Given the description of an element on the screen output the (x, y) to click on. 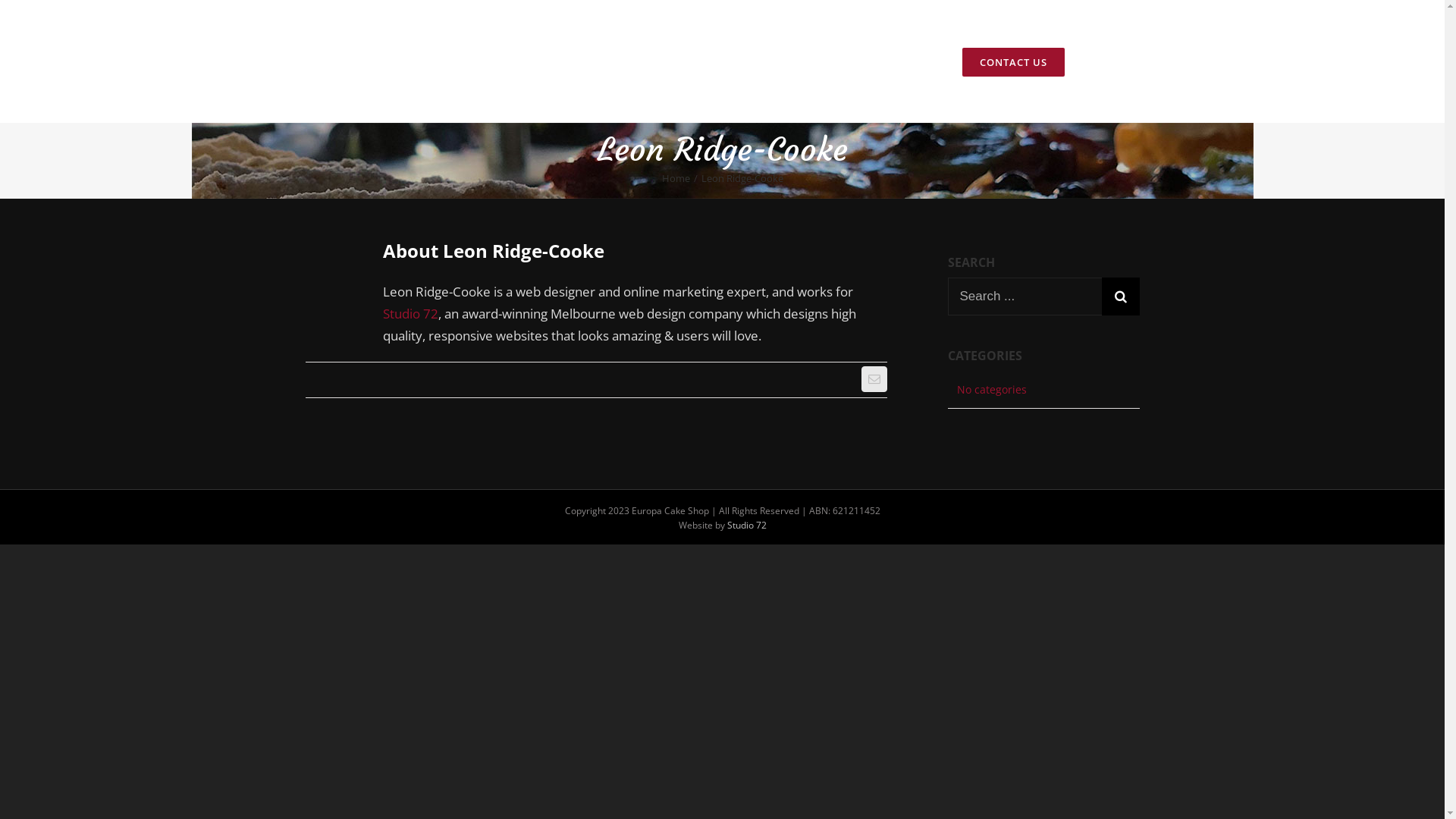
CATERING Element type: text (912, 61)
Home Element type: text (675, 178)
HOME Element type: text (678, 61)
OUR STORY Element type: text (752, 61)
GALLERY Element type: text (835, 61)
Studio 72 Element type: text (409, 313)
Follow us on Facebook Element type: hover (1085, 61)
CONTACT US Element type: text (1012, 61)
Follow us on Instagram Element type: hover (1114, 61)
Email Element type: text (874, 379)
Studio 72 Element type: text (745, 524)
